Given the description of an element on the screen output the (x, y) to click on. 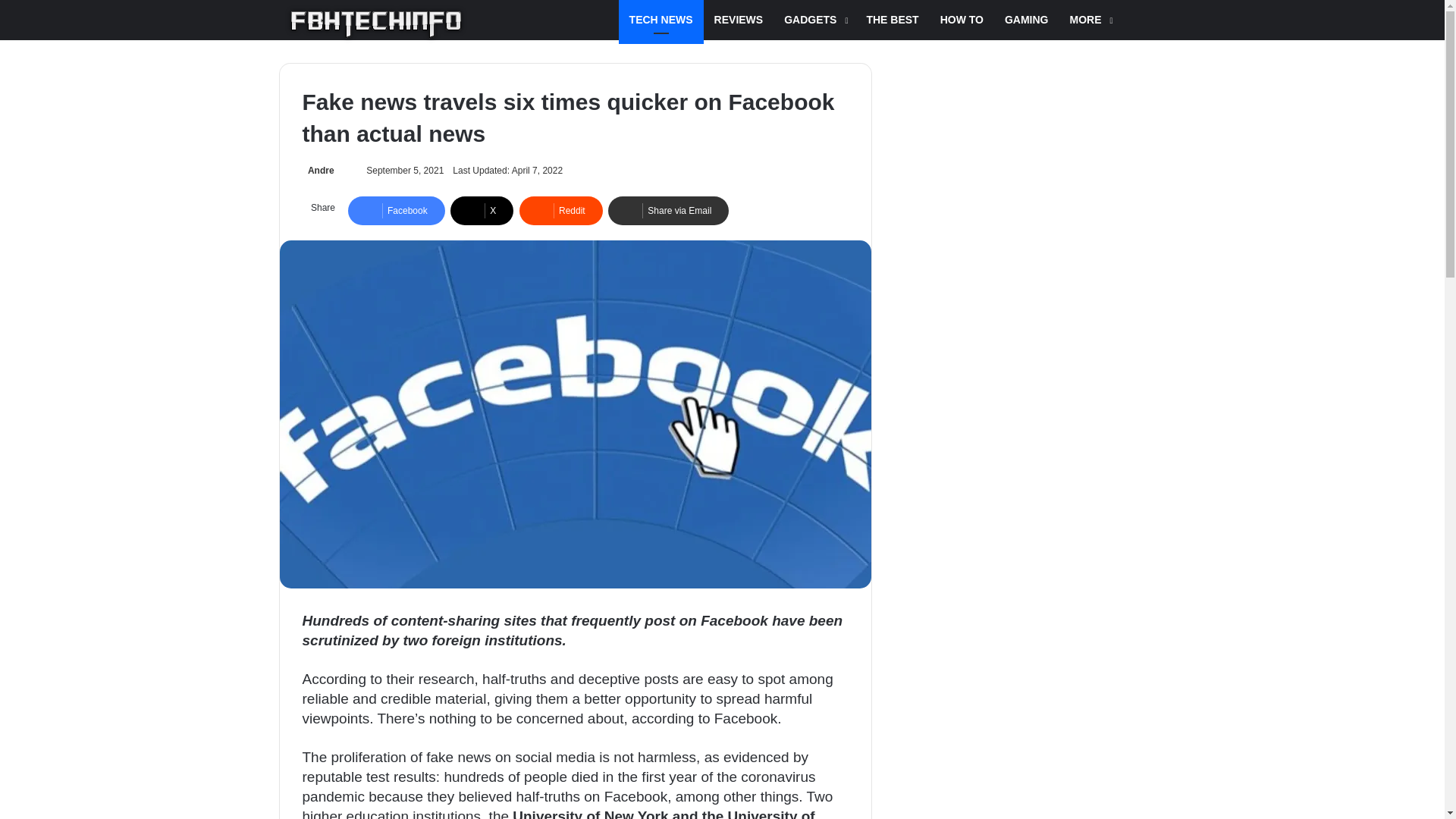
REVIEWS (738, 20)
Reddit (560, 210)
GAMING (1026, 20)
Share via Email (668, 210)
X (481, 210)
Reddit (560, 210)
FBHTECHINFO (376, 24)
Facebook (396, 210)
Facebook (396, 210)
GADGETS (814, 20)
